Given the description of an element on the screen output the (x, y) to click on. 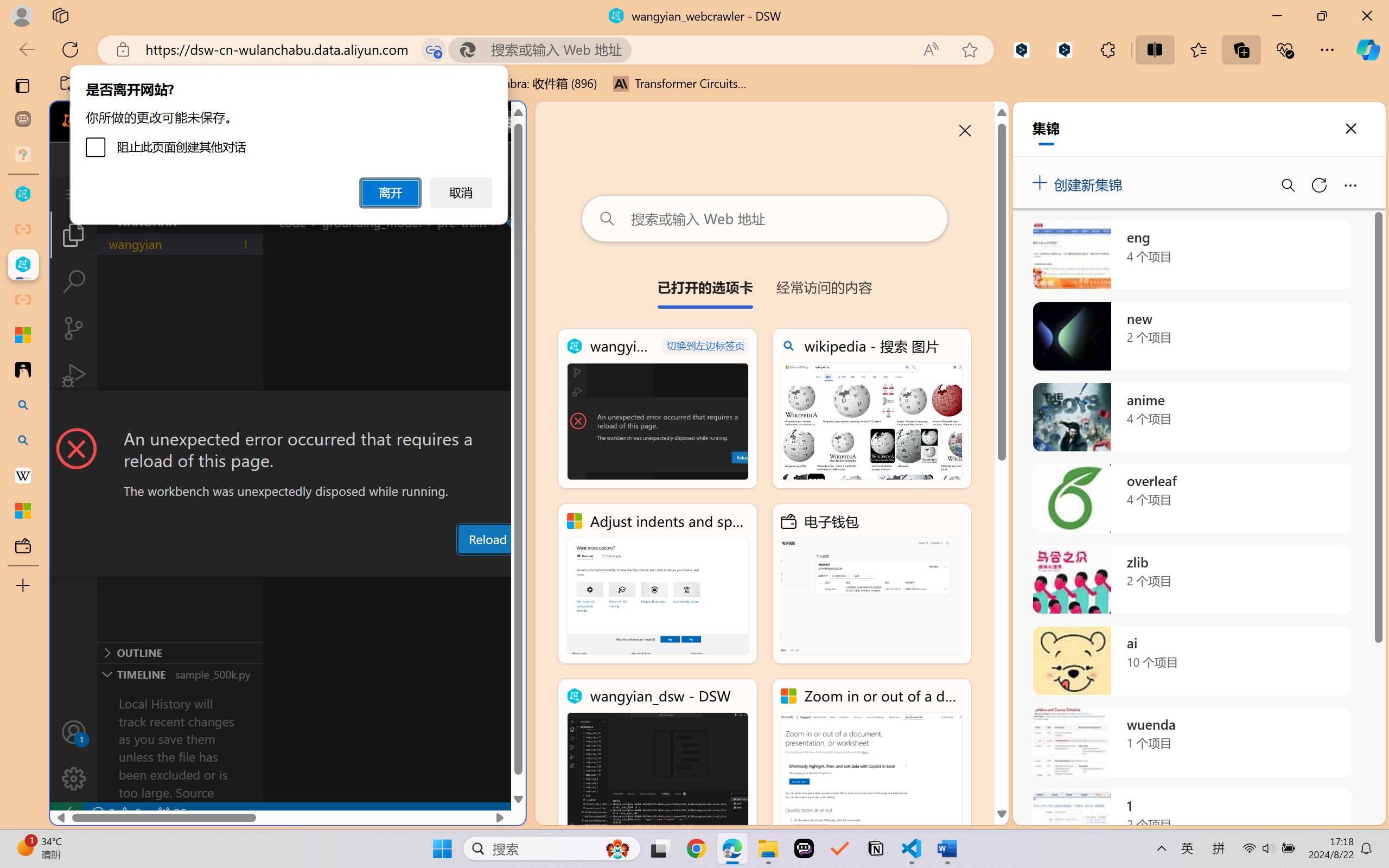
wangyian_webcrawler - DSW (657, 408)
Google Chrome (696, 848)
Class: actions-container (287, 410)
Reload (486, 538)
Problems (Ctrl+Shift+M) (308, 565)
